Given the description of an element on the screen output the (x, y) to click on. 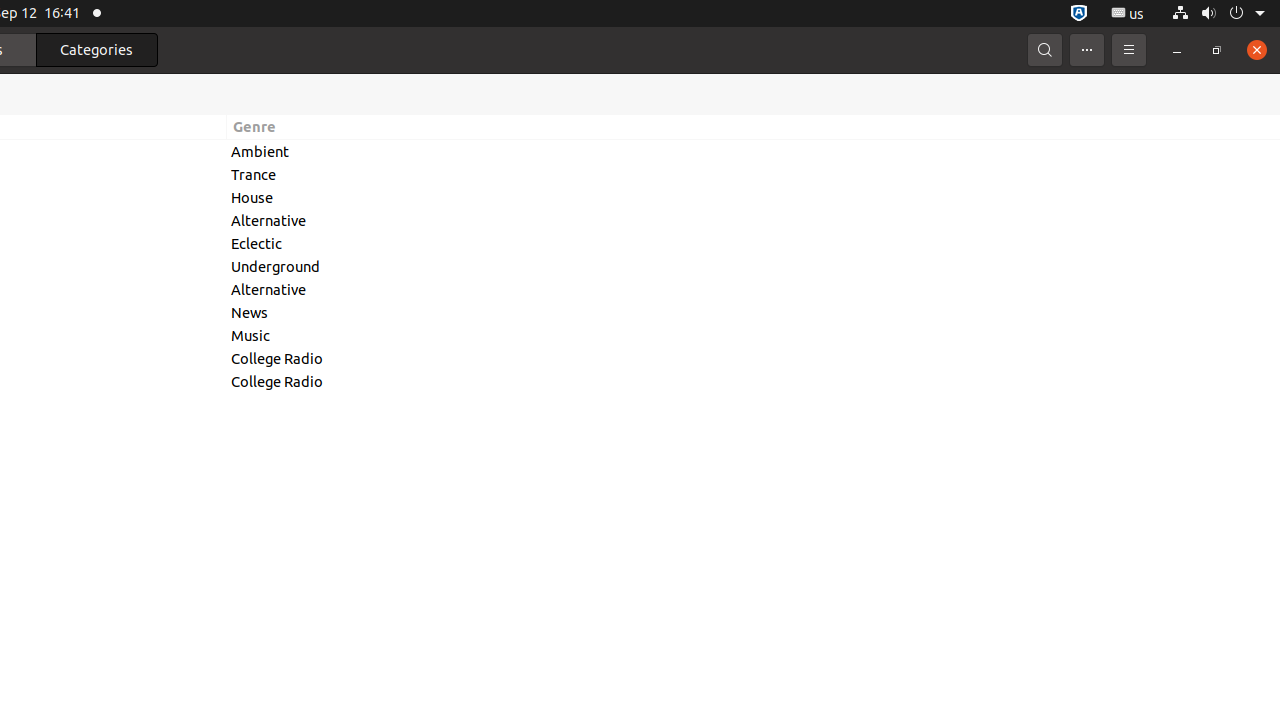
House Element type: table-cell (753, 197)
Underground Element type: table-cell (753, 266)
Genre Element type: table-column-header (753, 127)
Eclectic Element type: table-cell (753, 243)
